Given the description of an element on the screen output the (x, y) to click on. 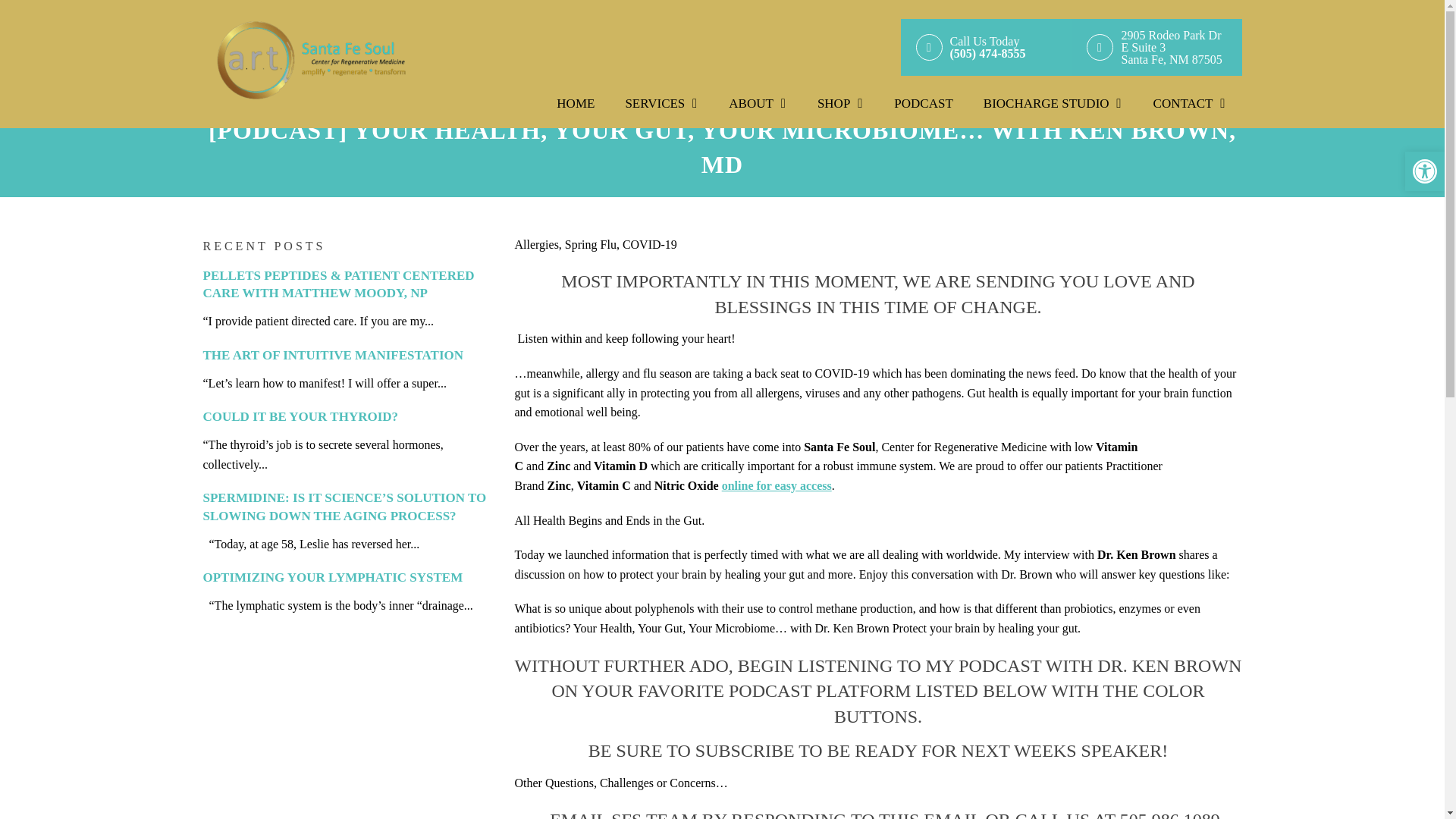
Accessibility Tools (1424, 170)
BIOCHARGE STUDIO (1155, 47)
SERVICES (1053, 103)
ABOUT (661, 103)
PODCAST (757, 103)
HOME (923, 103)
SHOP (575, 103)
